Given the description of an element on the screen output the (x, y) to click on. 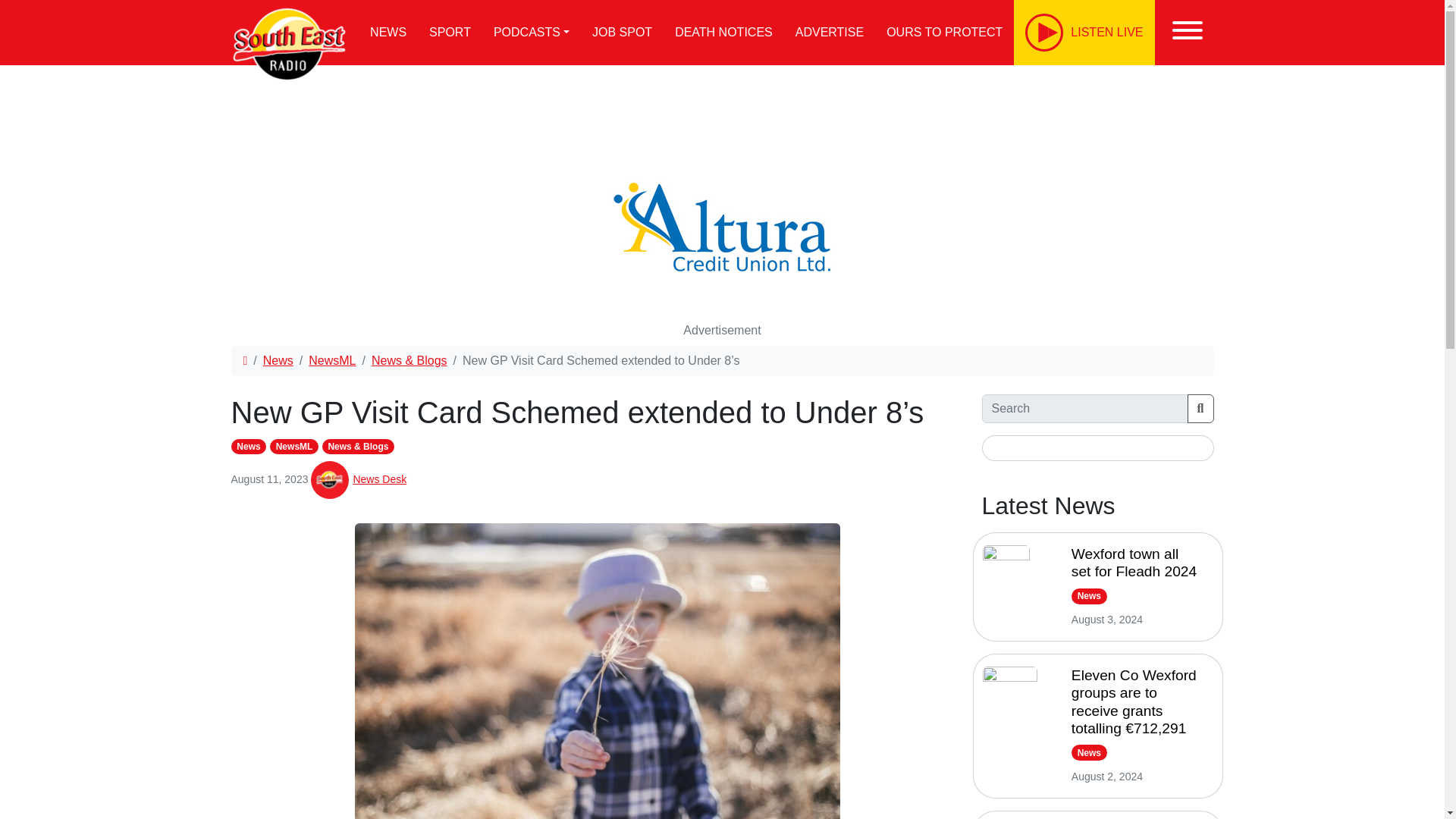
News (248, 446)
PODCASTS (530, 32)
OURS TO PROTECT (944, 32)
LISTEN LIVE (1083, 32)
SPORT (449, 32)
ADVERTISE (829, 32)
NEWS (387, 32)
JOB SPOT (621, 32)
News (278, 359)
DEATH NOTICES (723, 32)
NewsML (331, 359)
